Given the description of an element on the screen output the (x, y) to click on. 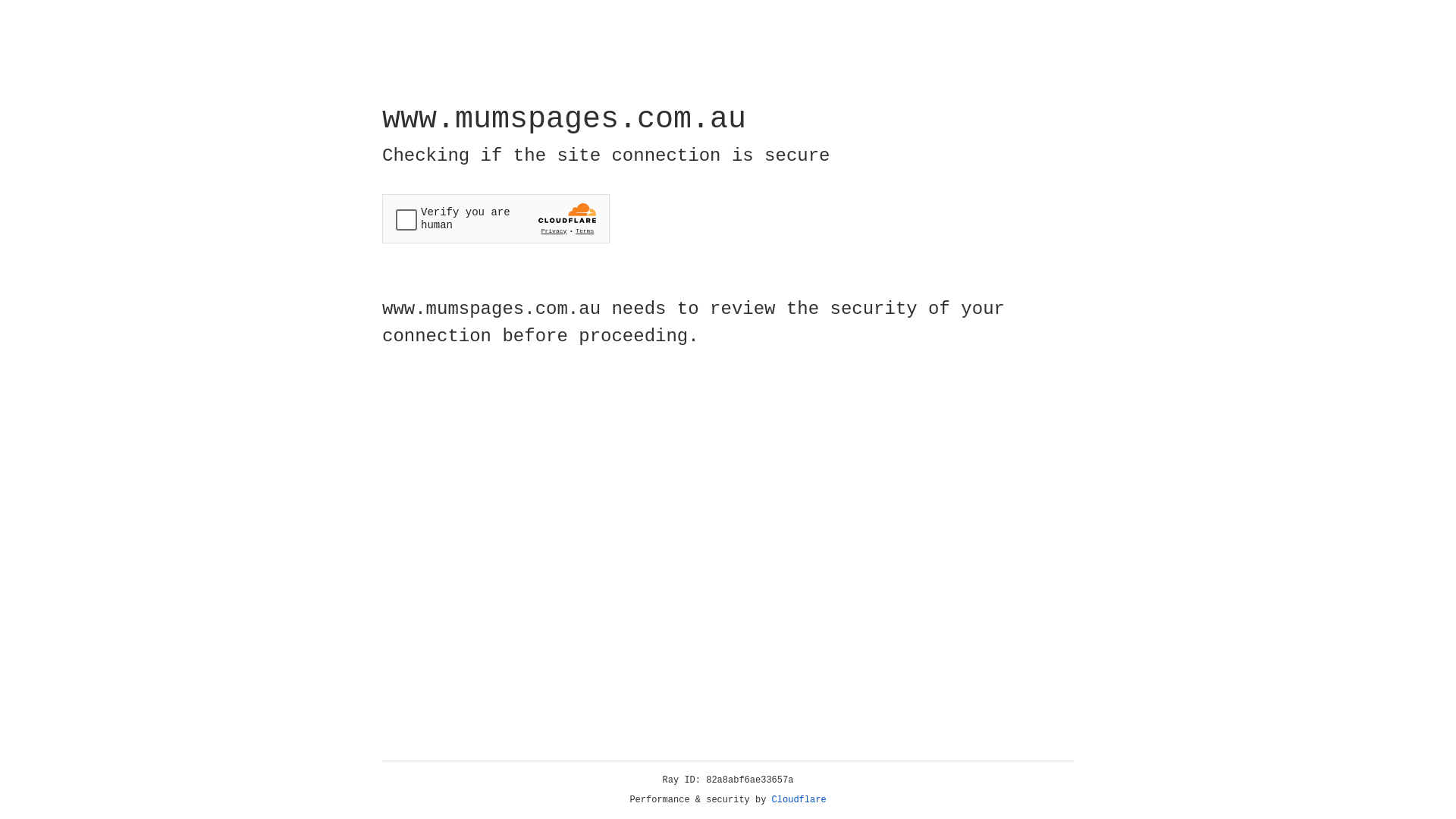
Widget containing a Cloudflare security challenge Element type: hover (495, 218)
Cloudflare Element type: text (798, 799)
